Given the description of an element on the screen output the (x, y) to click on. 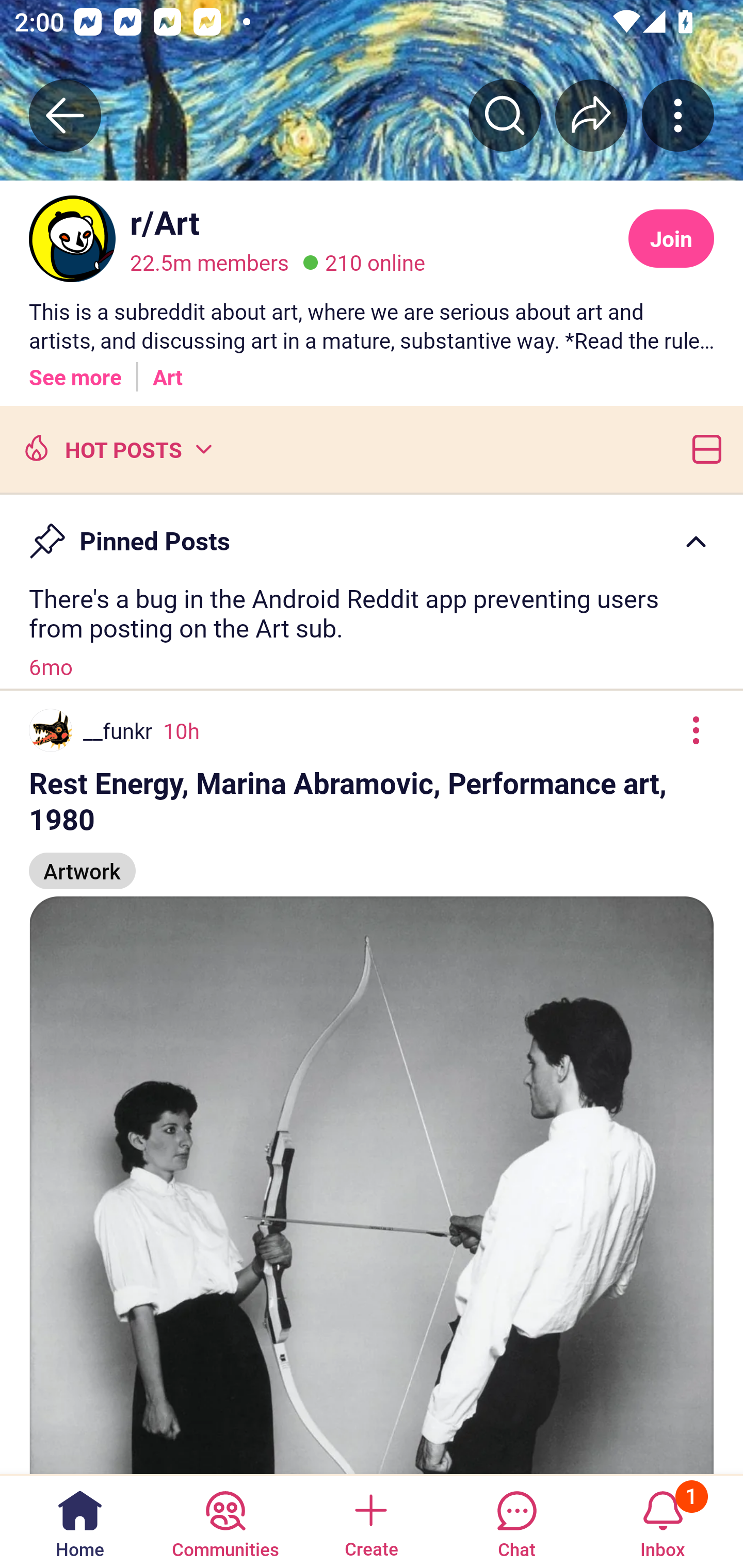
Back (64, 115)
Search r/﻿Art (504, 115)
Share r/﻿Art (591, 115)
More community actions (677, 115)
Hot posts HOT POSTS (116, 448)
Card (703, 448)
Pin Pinned Posts Caret (371, 531)
Artwork (81, 861)
Home (80, 1520)
Communities (225, 1520)
Create a post Create (370, 1520)
Chat (516, 1520)
Inbox, has 1 notification 1 Inbox (662, 1520)
